Given the description of an element on the screen output the (x, y) to click on. 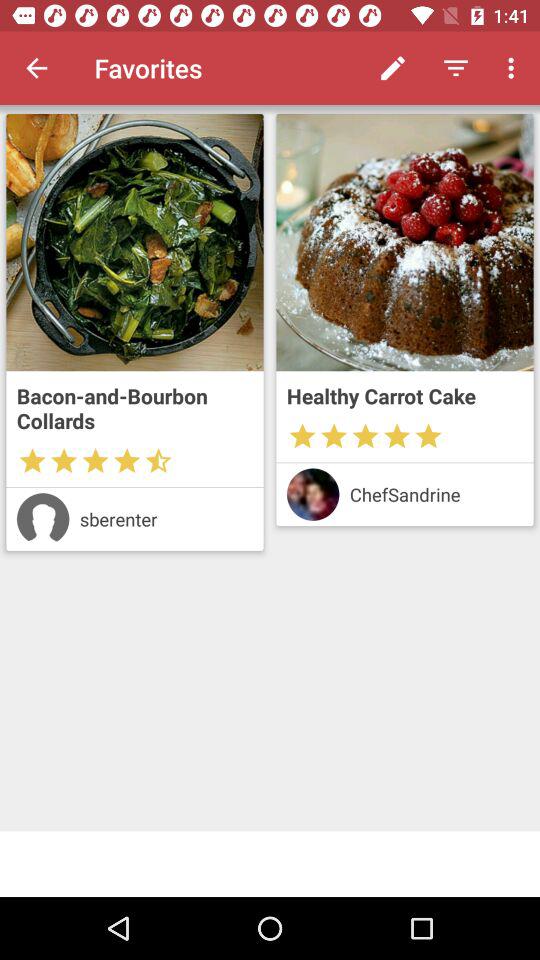
open this recipe (404, 242)
